Given the description of an element on the screen output the (x, y) to click on. 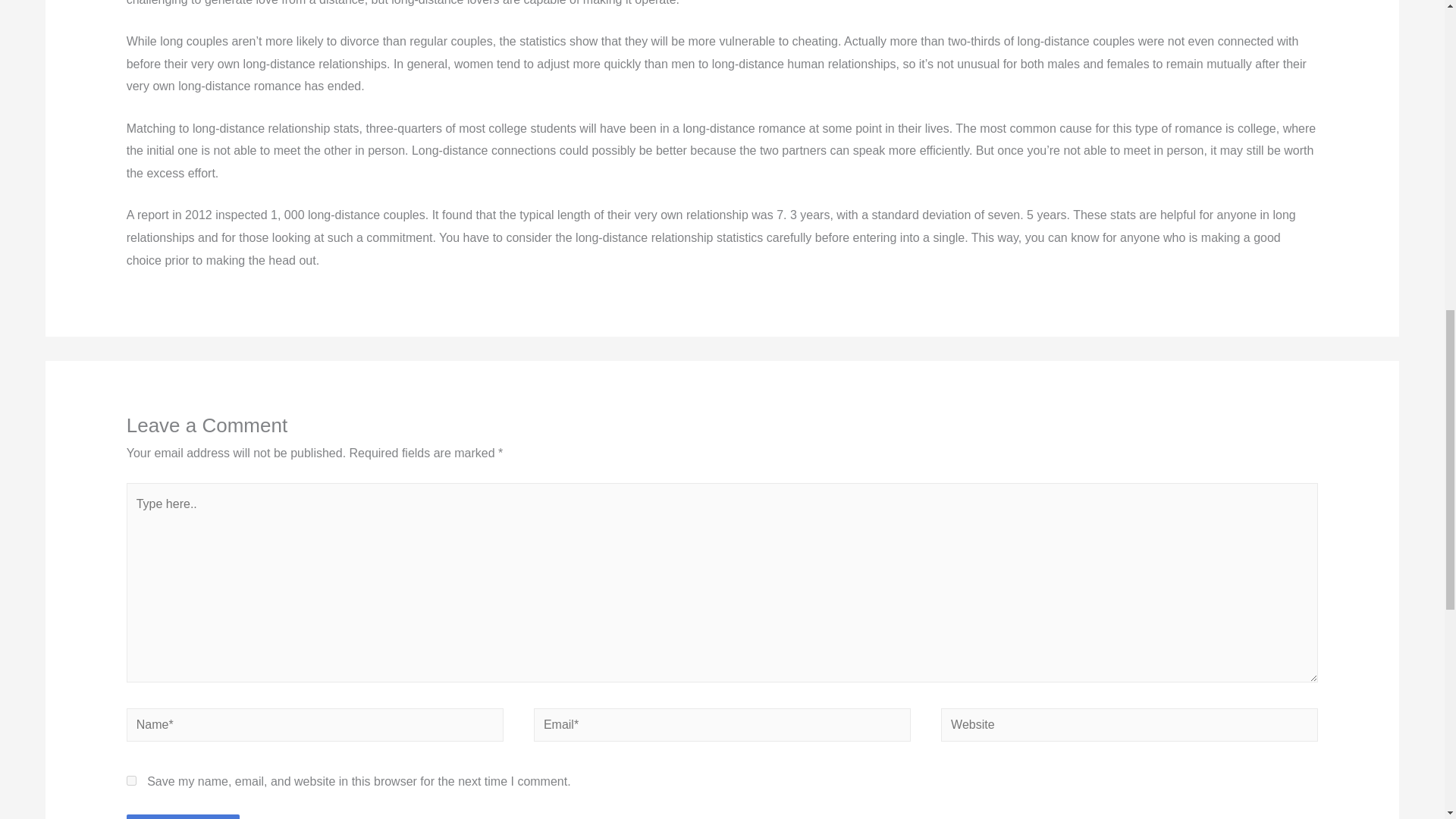
yes (131, 780)
